Given the description of an element on the screen output the (x, y) to click on. 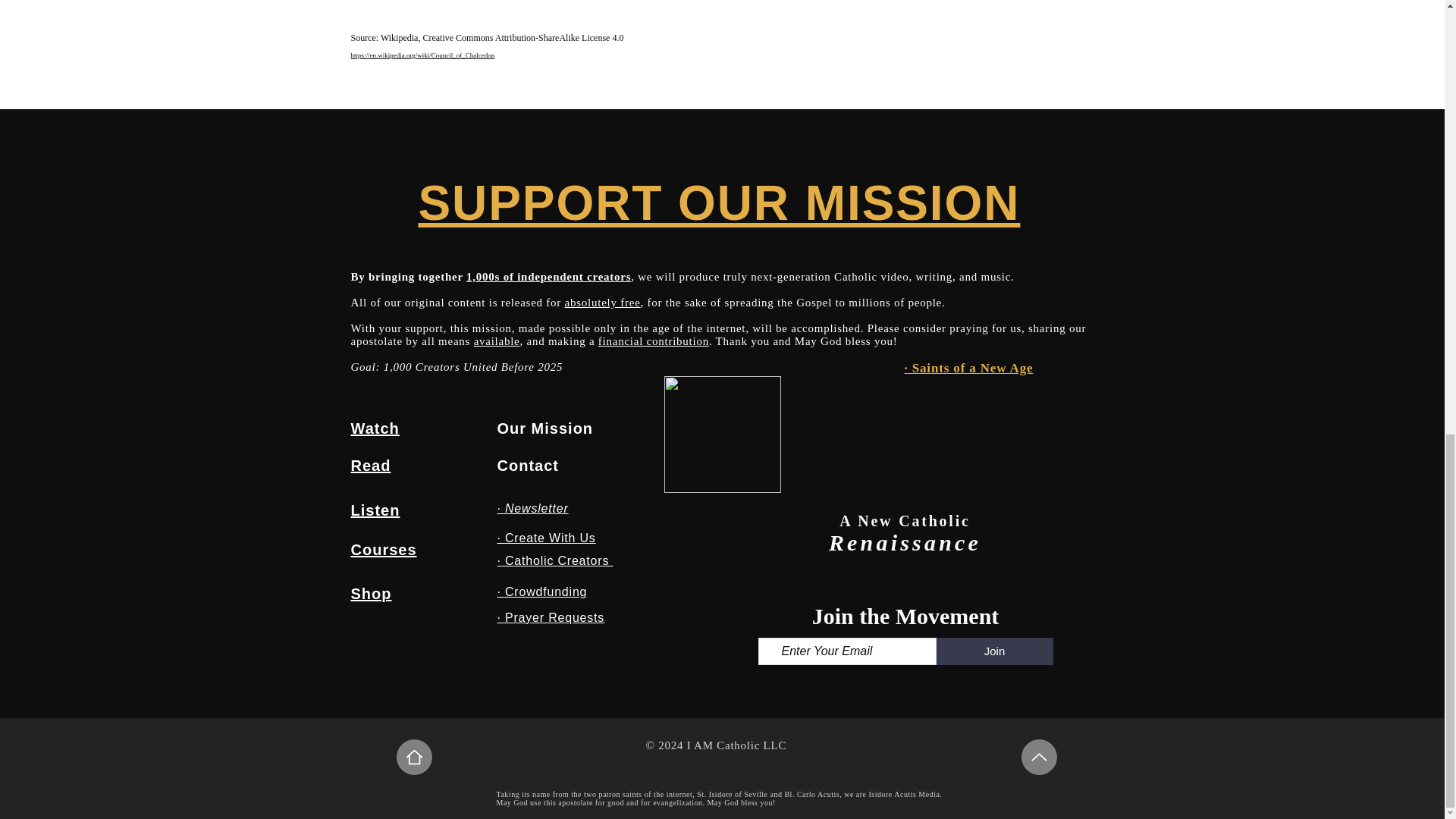
A New Catholic (905, 520)
Listen (374, 510)
Contact (528, 465)
SUPPORT OUR MISSION (719, 203)
Our Mission (545, 428)
available (496, 340)
financial contribution (653, 340)
Read (370, 465)
absolutely free (602, 302)
1,000s of independent creators (547, 276)
sacredheartlogo.png (721, 434)
Courses (383, 549)
Join (994, 651)
Watch (374, 428)
Shop (370, 593)
